Given the description of an element on the screen output the (x, y) to click on. 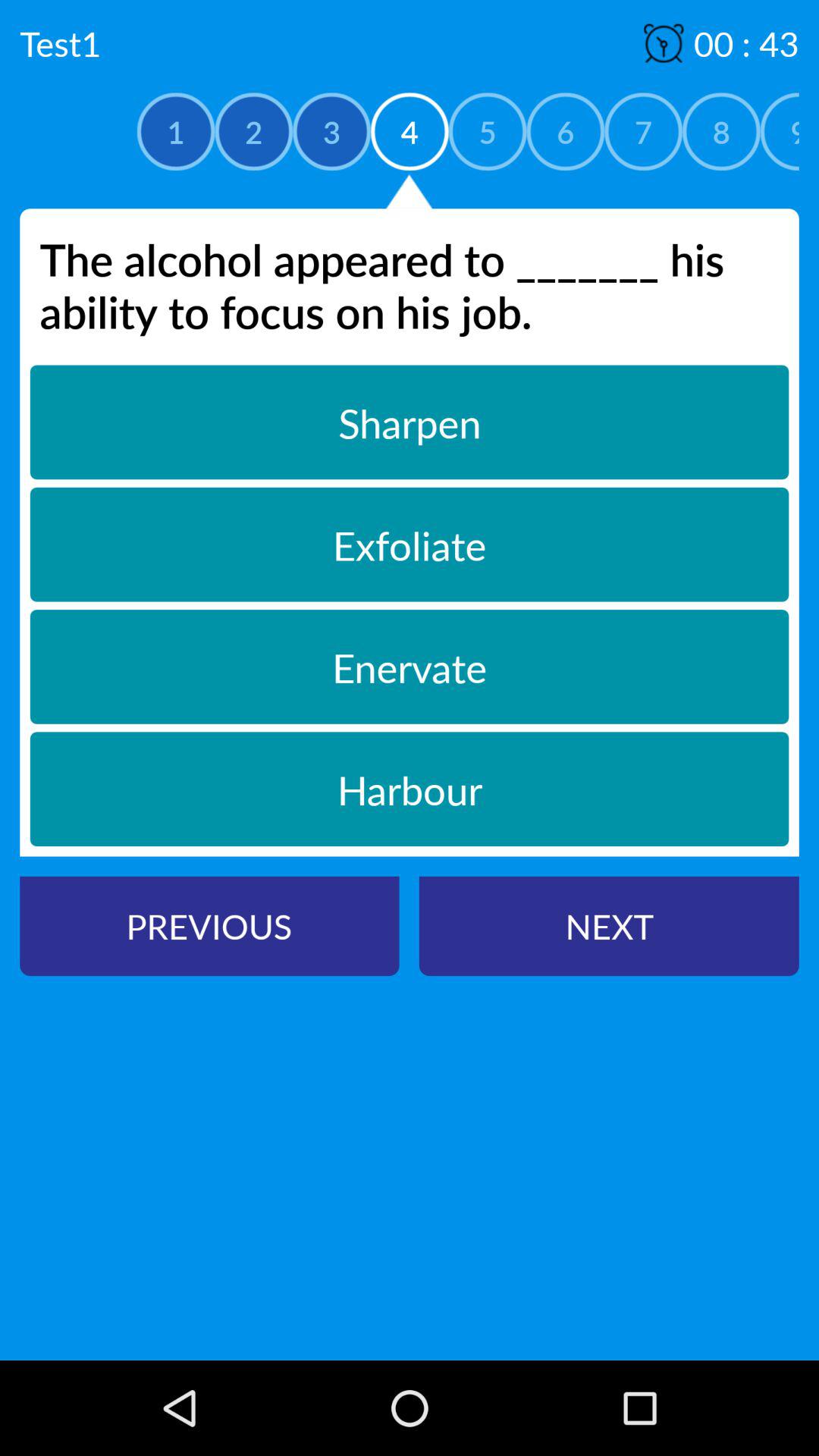
click on the next button (609, 925)
click on previous button (209, 925)
select the symbol which is above the number 7 (663, 43)
